Given the description of an element on the screen output the (x, y) to click on. 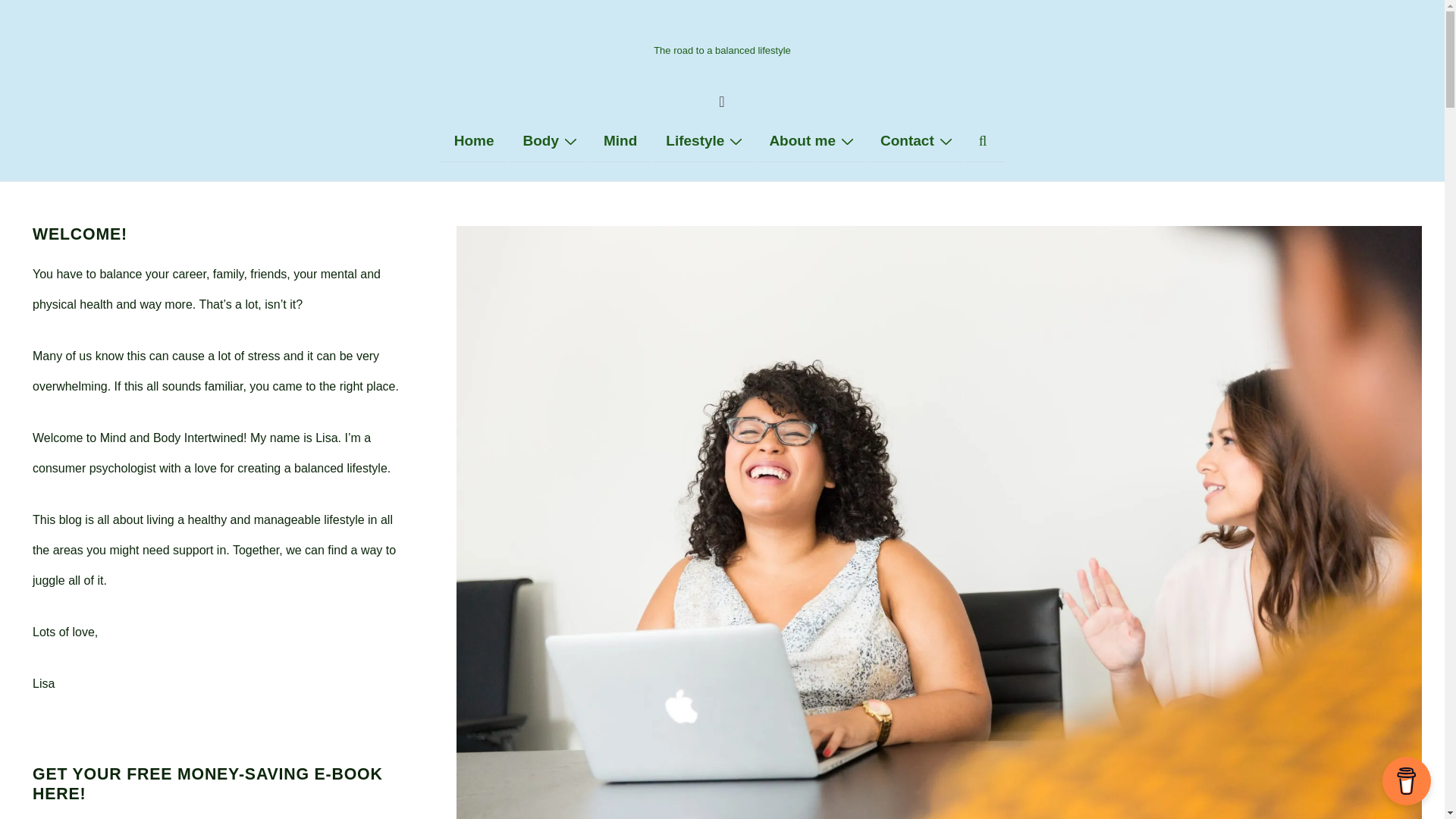
Home (474, 140)
About me (809, 140)
Body (548, 140)
Lifestyle (703, 140)
Contact (914, 140)
Mind (619, 140)
